Given the description of an element on the screen output the (x, y) to click on. 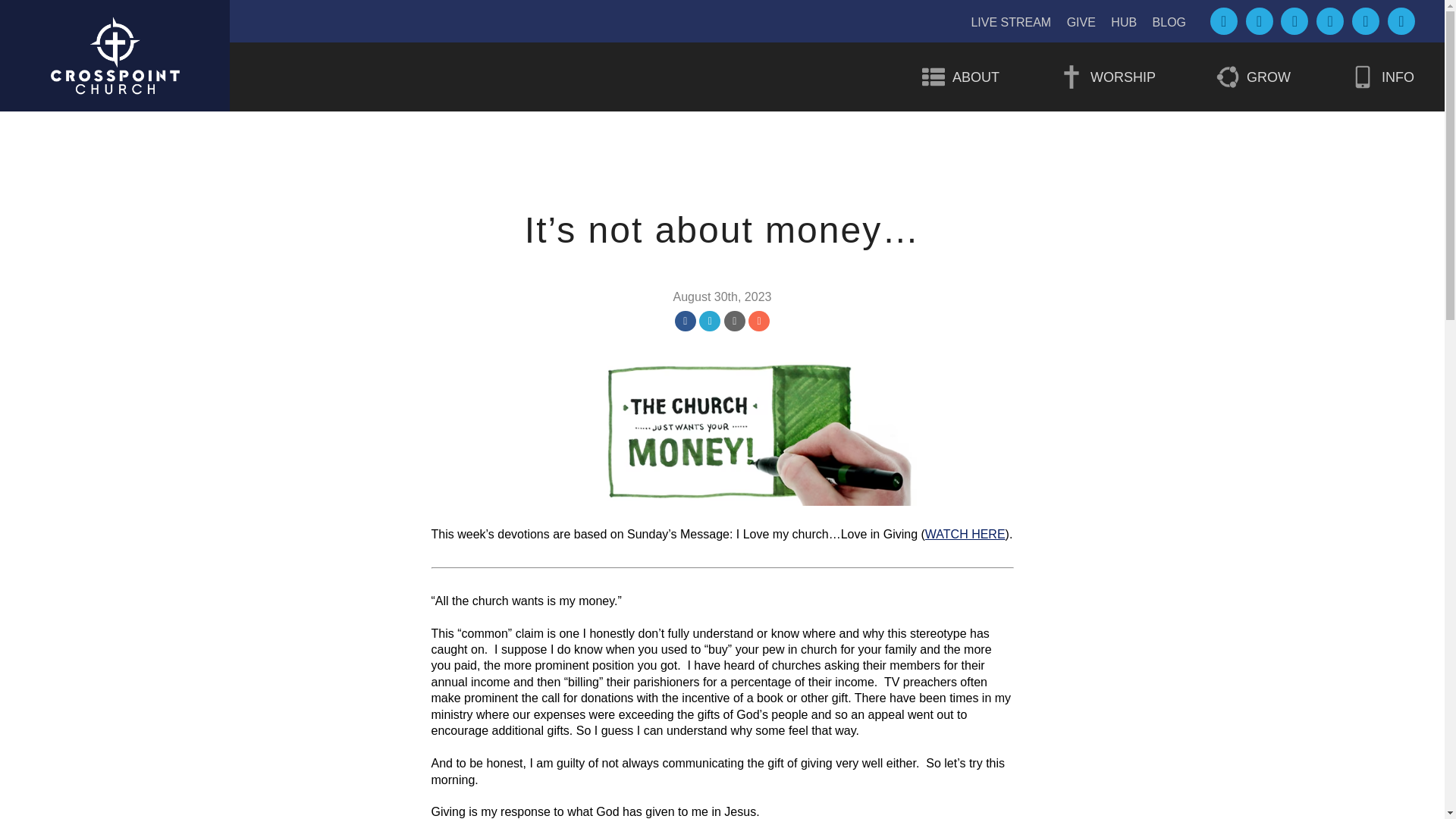
BLOG (1169, 21)
GROW (1253, 76)
WATCH HERE (965, 533)
LIVE STREAM (1011, 21)
ABOUT (960, 76)
HUB (1123, 21)
GIVE (1081, 21)
WORSHIP (1107, 76)
